Given the description of an element on the screen output the (x, y) to click on. 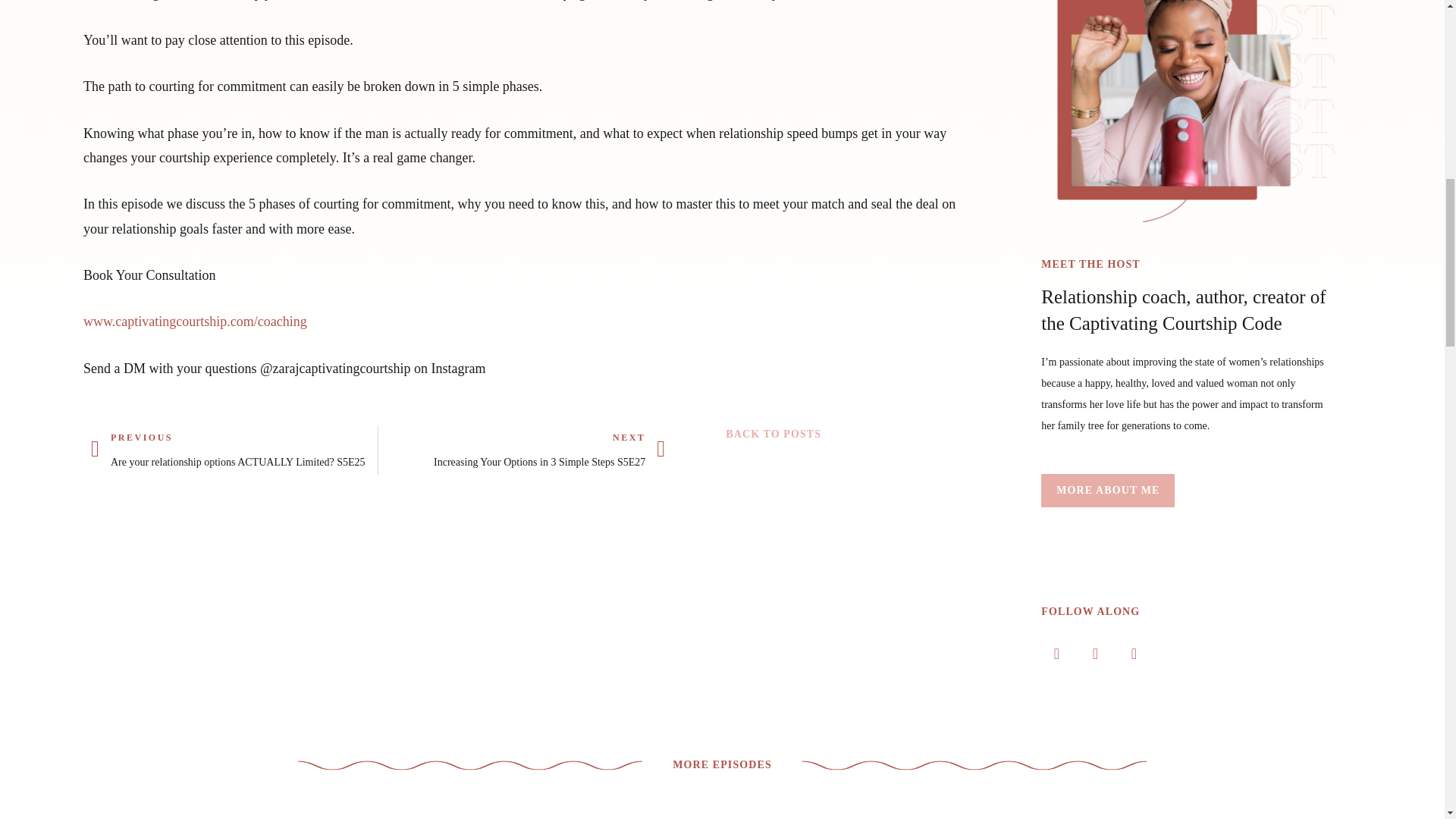
BACK TO POSTS (772, 434)
MORE ABOUT ME (1107, 490)
